Given the description of an element on the screen output the (x, y) to click on. 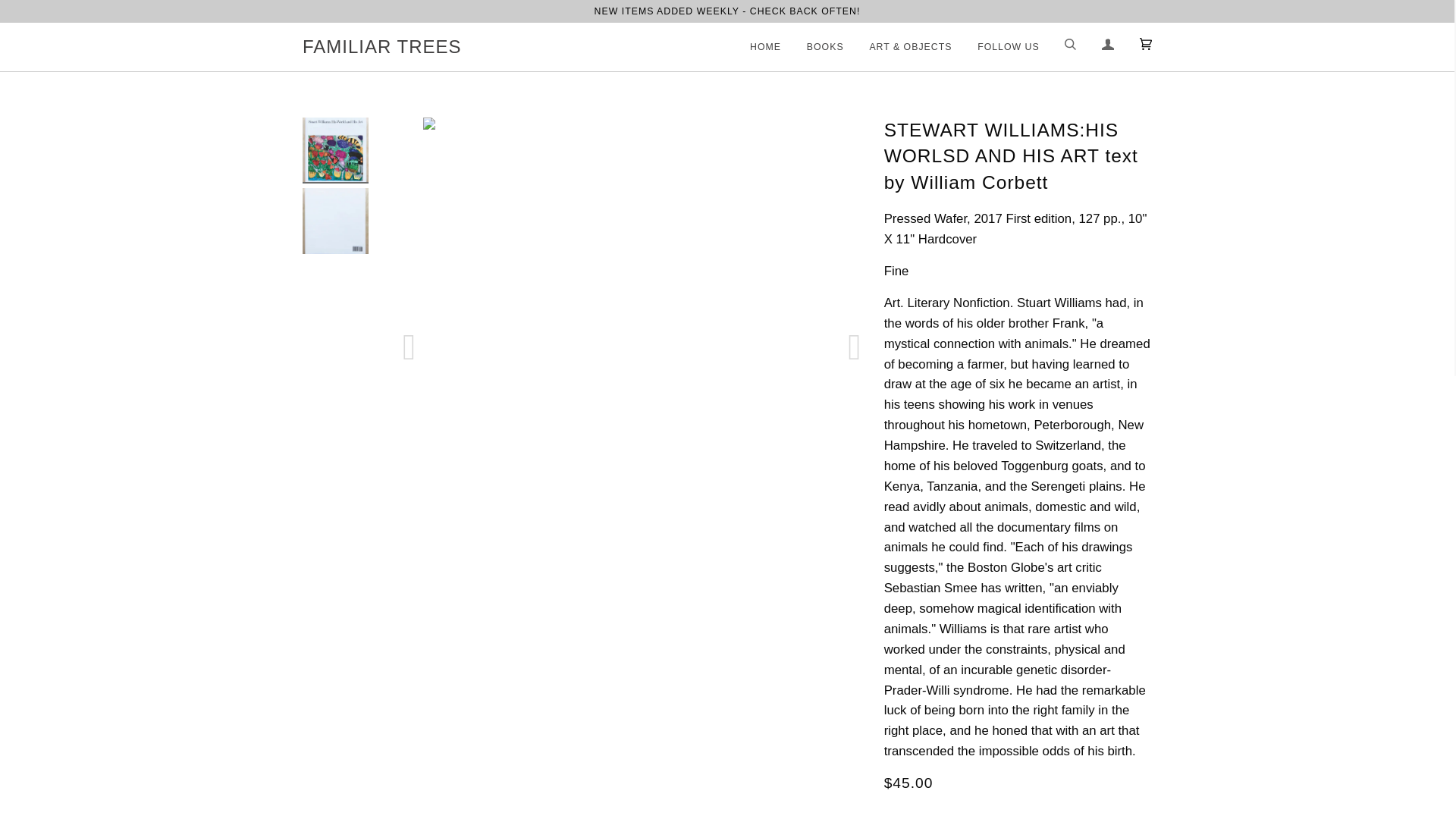
FAMILIAR TREES (381, 46)
BOOKS (814, 47)
HOME (761, 47)
FOLLOW US (997, 47)
